Given the description of an element on the screen output the (x, y) to click on. 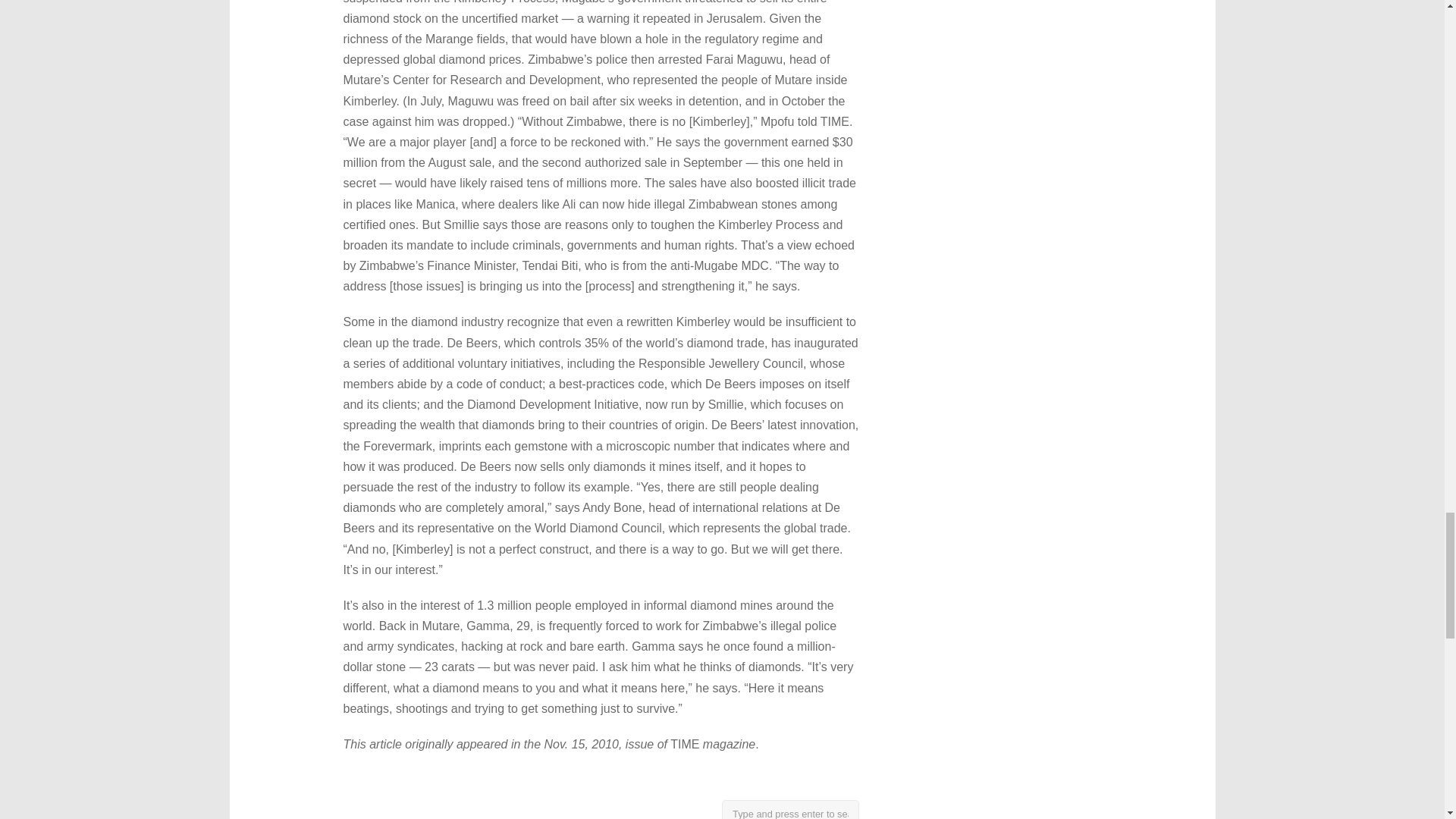
Type and press enter to search. (790, 809)
